Given the description of an element on the screen output the (x, y) to click on. 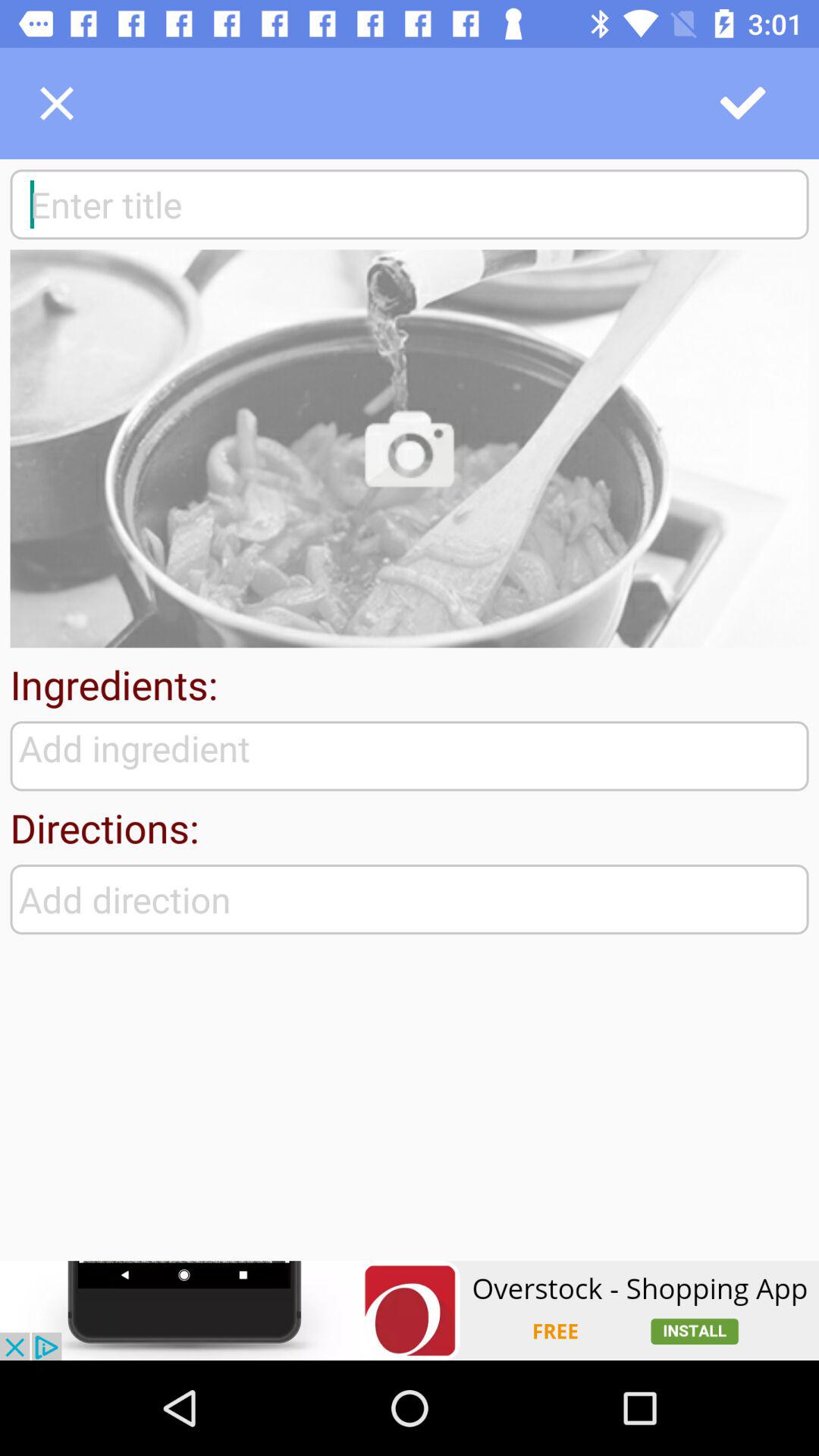
enter title (409, 204)
